Given the description of an element on the screen output the (x, y) to click on. 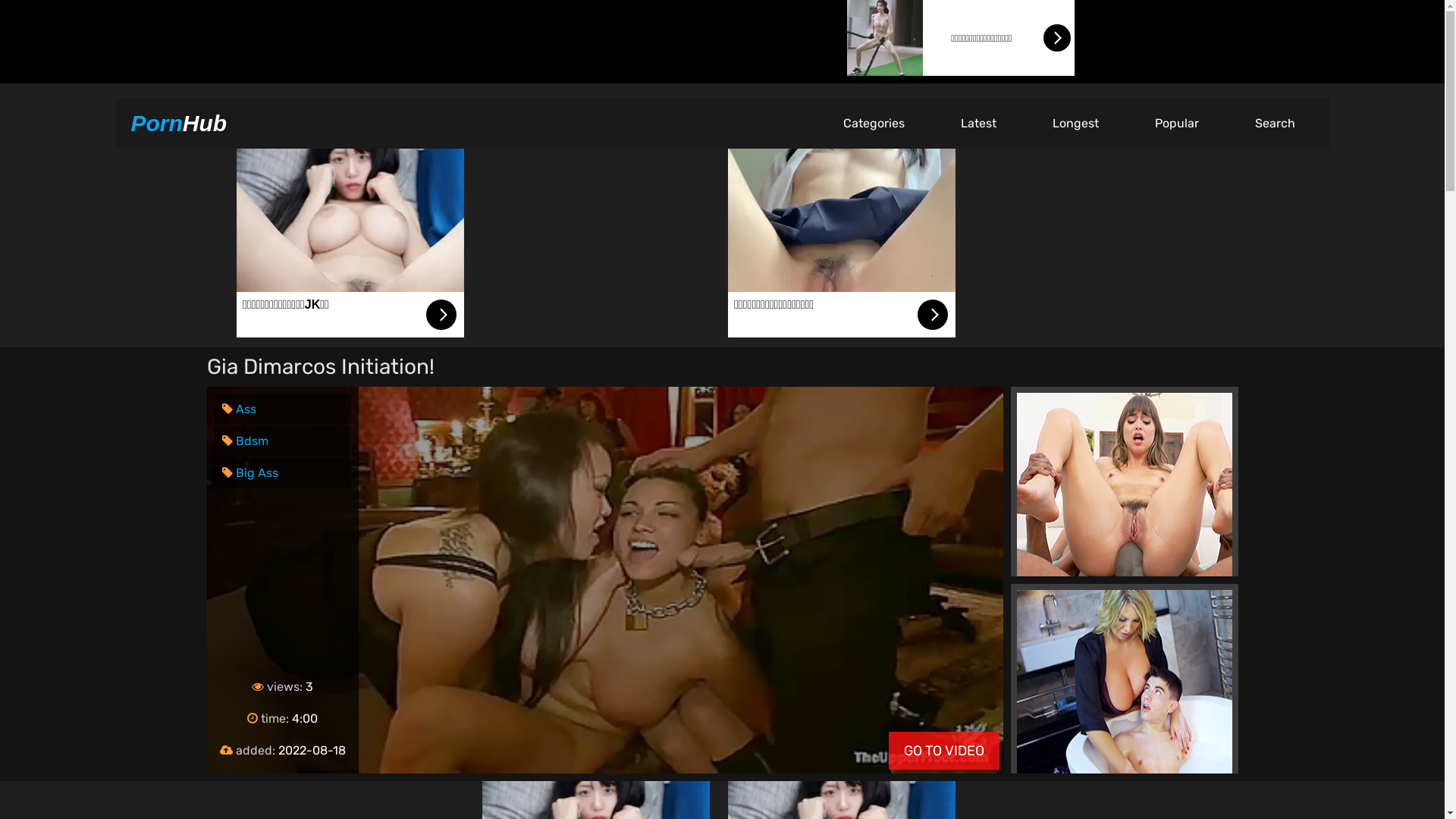
Popular Element type: text (1176, 122)
Big Ass Element type: text (249, 472)
Search Element type: text (1275, 122)
PornHub Element type: text (178, 122)
Categories Element type: text (872, 122)
Latest Element type: text (978, 122)
Longest Element type: text (1074, 122)
Ass Element type: text (238, 408)
Bdsm Element type: text (244, 440)
